Given the description of an element on the screen output the (x, y) to click on. 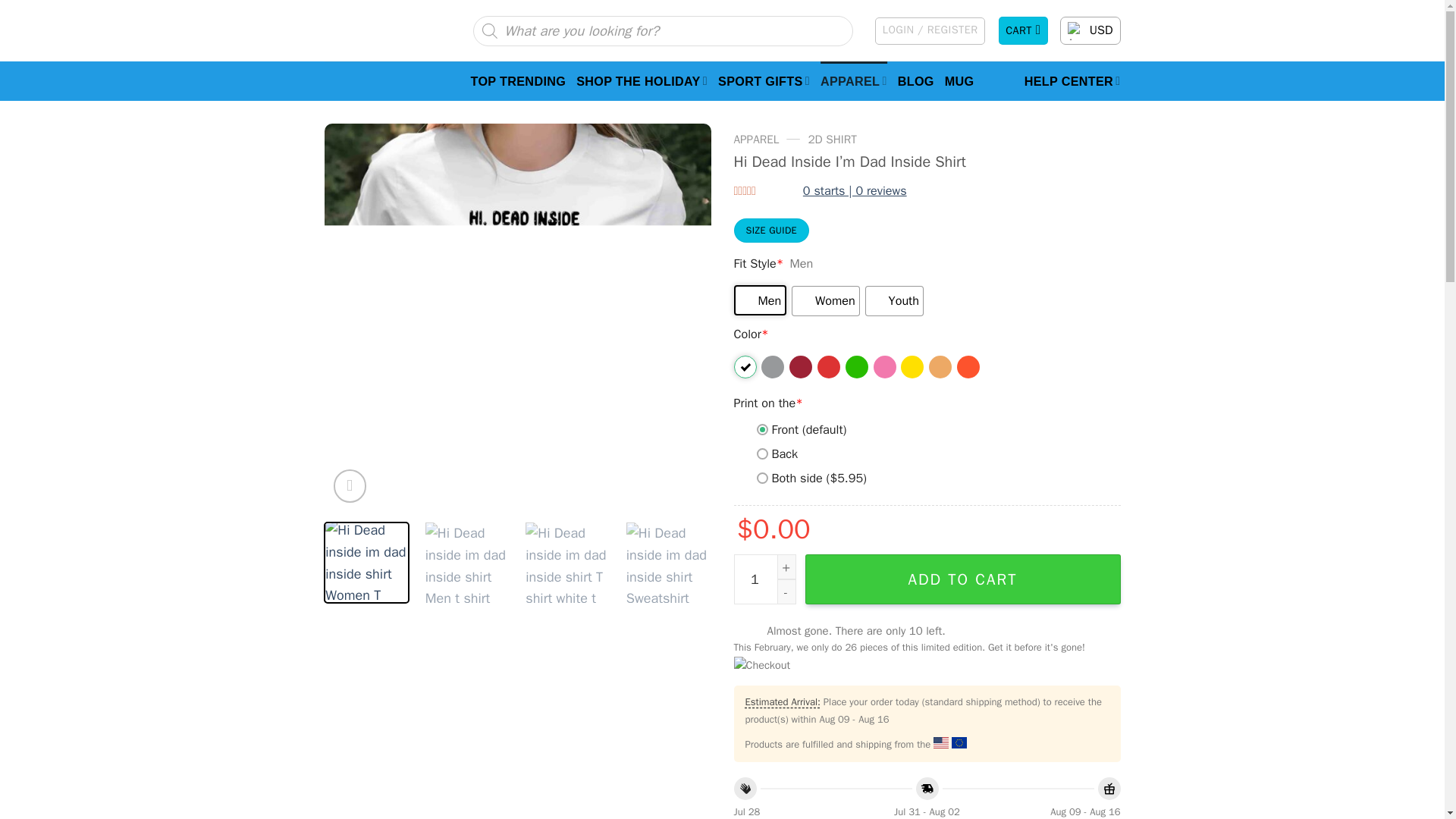
TOP TRENDING (518, 80)
Cart (1023, 30)
CART (1023, 30)
- (785, 591)
Zoom (349, 485)
1 (764, 579)
APPAREL (853, 80)
BLOG (916, 80)
SHOP THE HOLIDAY (641, 80)
MUG (959, 80)
HELP CENTER (1073, 80)
SPORT GIFTS (763, 80)
